Given the description of an element on the screen output the (x, y) to click on. 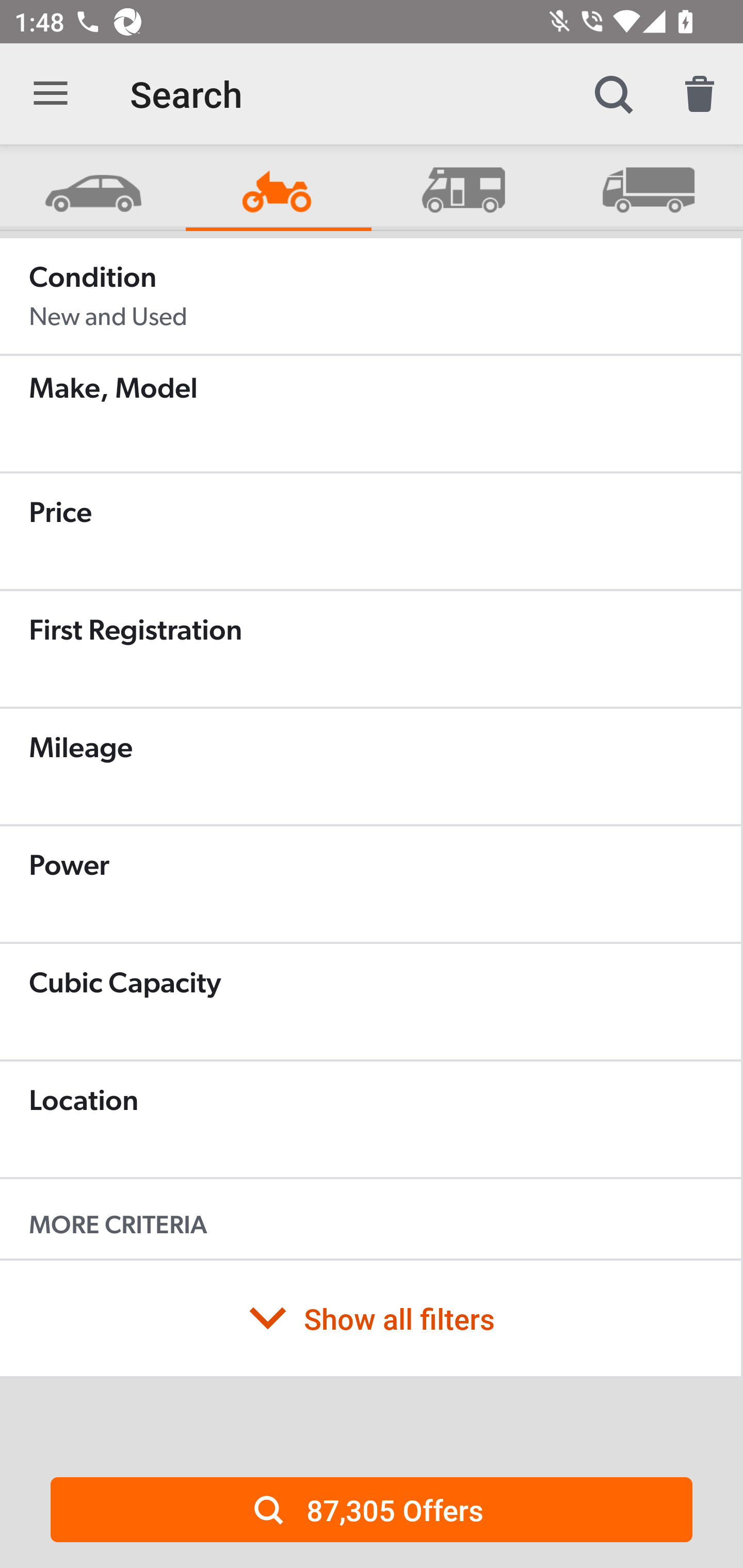
Open navigation bar (50, 93)
Search (612, 93)
Reset search (699, 93)
Condition New and Used (370, 296)
Make, Model (370, 413)
Price (370, 531)
First Registration (370, 649)
Mileage (370, 766)
Power (370, 884)
Cubic Capacity (370, 1001)
Location (370, 1119)
Show all filters (370, 1318)
87,305 Offers (371, 1509)
